Given the description of an element on the screen output the (x, y) to click on. 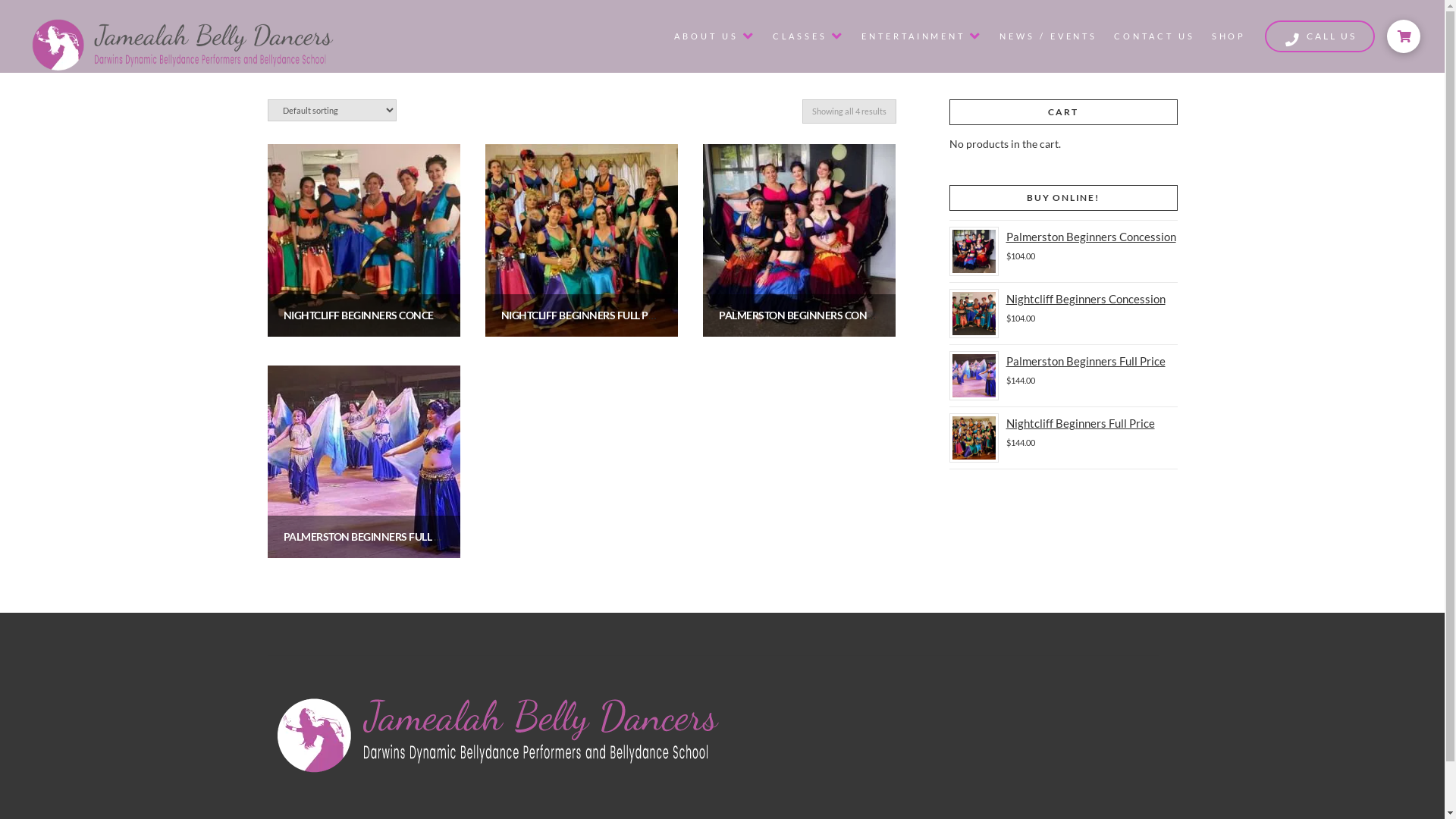
CALL US Element type: text (1319, 36)
Nightcliff Beginners Concession Element type: text (1063, 298)
CONTACT US Element type: text (1152, 36)
Palmerston Beginners Full Price Element type: text (1063, 360)
NIGHTCLIFF BEGINNERS CONCESSION Element type: text (373, 314)
Nightcliff Beginners Full Price Element type: text (1063, 423)
NIGHTCLIFF BEGINNERS FULL PRICE Element type: text (585, 314)
PALMERSTON BEGINNERS FULL PRICE Element type: text (372, 536)
Palmerston Beginners Concession Element type: text (1063, 236)
SHOP Element type: text (1227, 36)
PALMERSTON BEGINNERS CONCESSION Element type: text (813, 314)
CLASSES Element type: text (807, 36)
ENTERTAINMENT Element type: text (920, 36)
NEWS / EVENTS Element type: text (1046, 36)
ABOUT US Element type: text (713, 36)
